Given the description of an element on the screen output the (x, y) to click on. 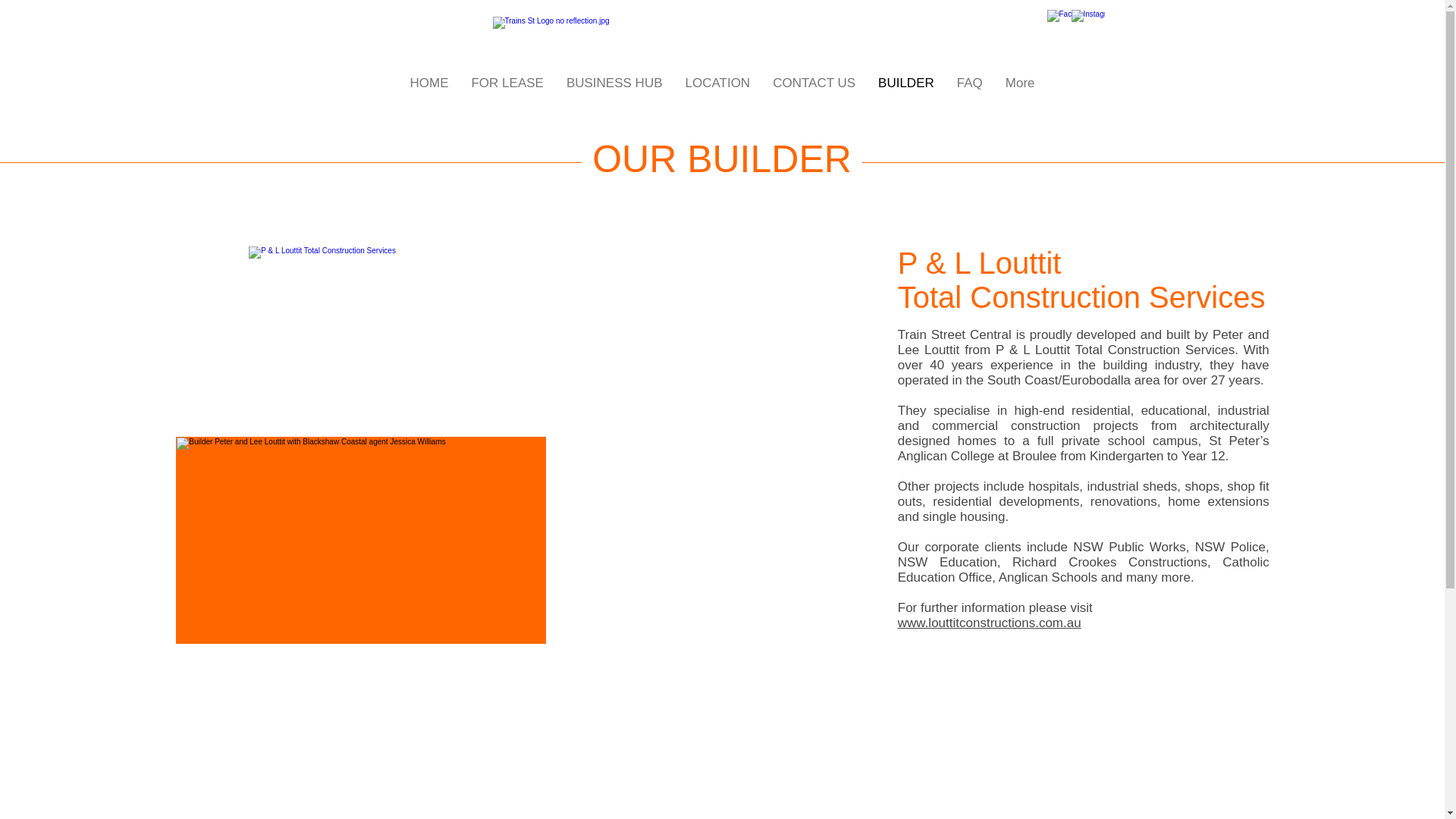
LOCATION (716, 85)
BUILDER (905, 85)
BUSINESS HUB (614, 85)
FOR LEASE (507, 85)
CONTACT US (813, 85)
HOME (428, 85)
FAQ (969, 85)
www.louttitconstructions.com.au (989, 622)
